Given the description of an element on the screen output the (x, y) to click on. 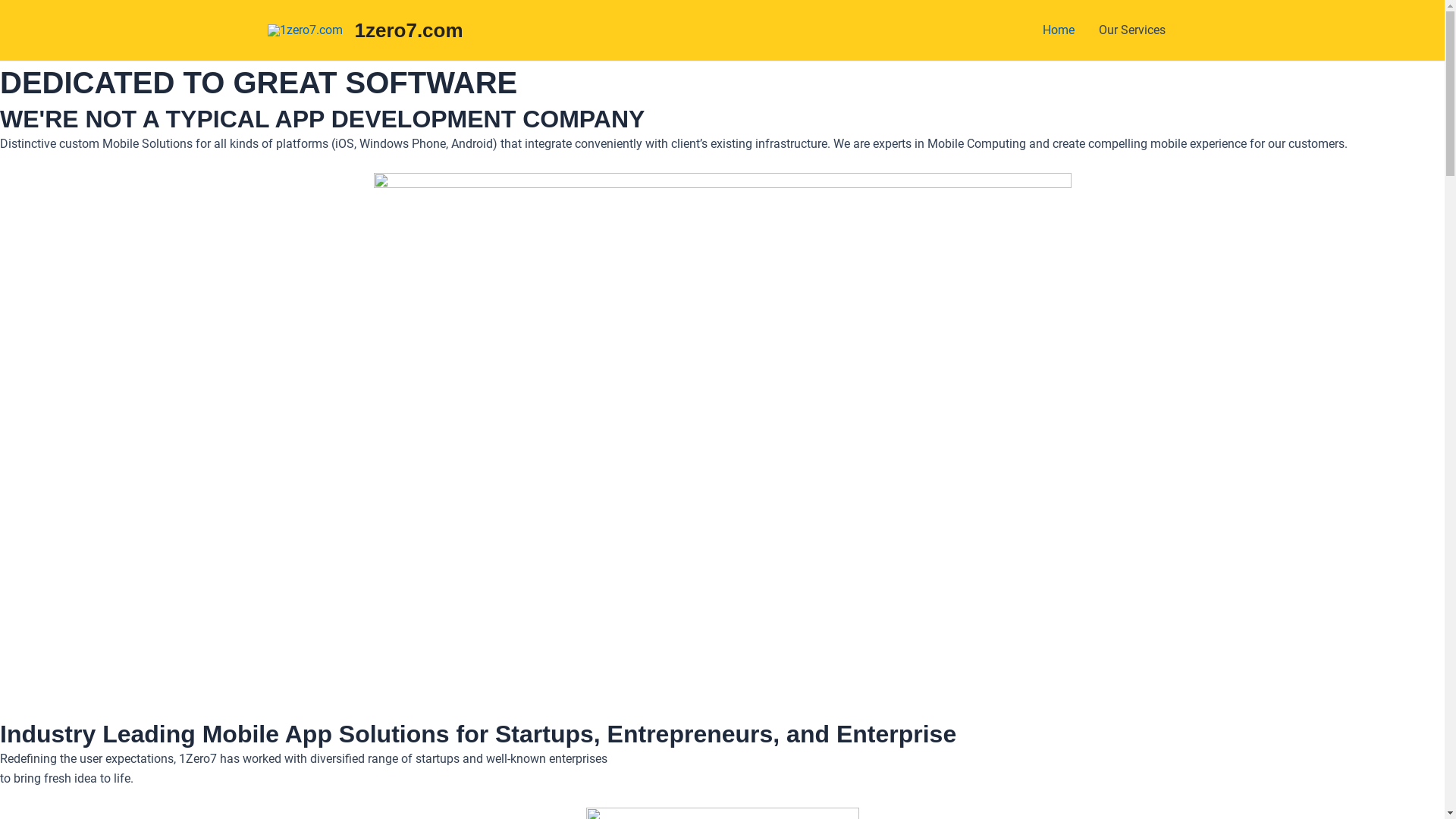
Home Element type: text (1057, 30)
1zero7.com Element type: text (408, 29)
Our Services Element type: text (1130, 30)
